Given the description of an element on the screen output the (x, y) to click on. 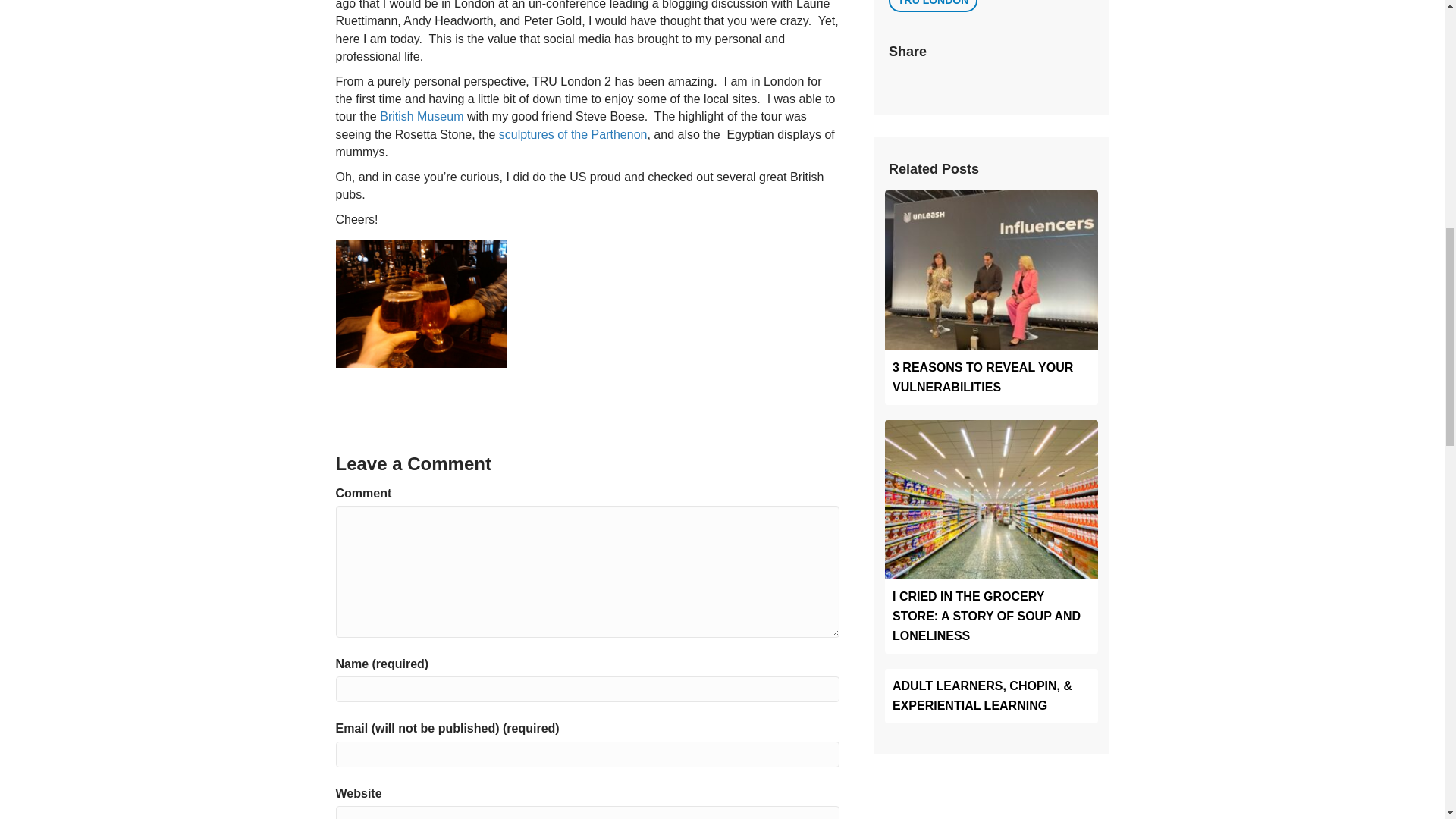
3 Reasons To Reveal Your Vulnerabilities (982, 377)
TRU LONDON (932, 5)
3 Reasons To Reveal Your Vulnerabilities (991, 269)
3 REASONS TO REVEAL YOUR VULNERABILITIES (982, 377)
Cheers London (419, 303)
British Museum (421, 115)
I Cried in the Grocery Store: A Story of Soup and Loneliness (986, 615)
I Cried in the Grocery Store: A Story of Soup and Loneliness (991, 498)
sculptures of the Parthenon (573, 133)
